Given the description of an element on the screen output the (x, y) to click on. 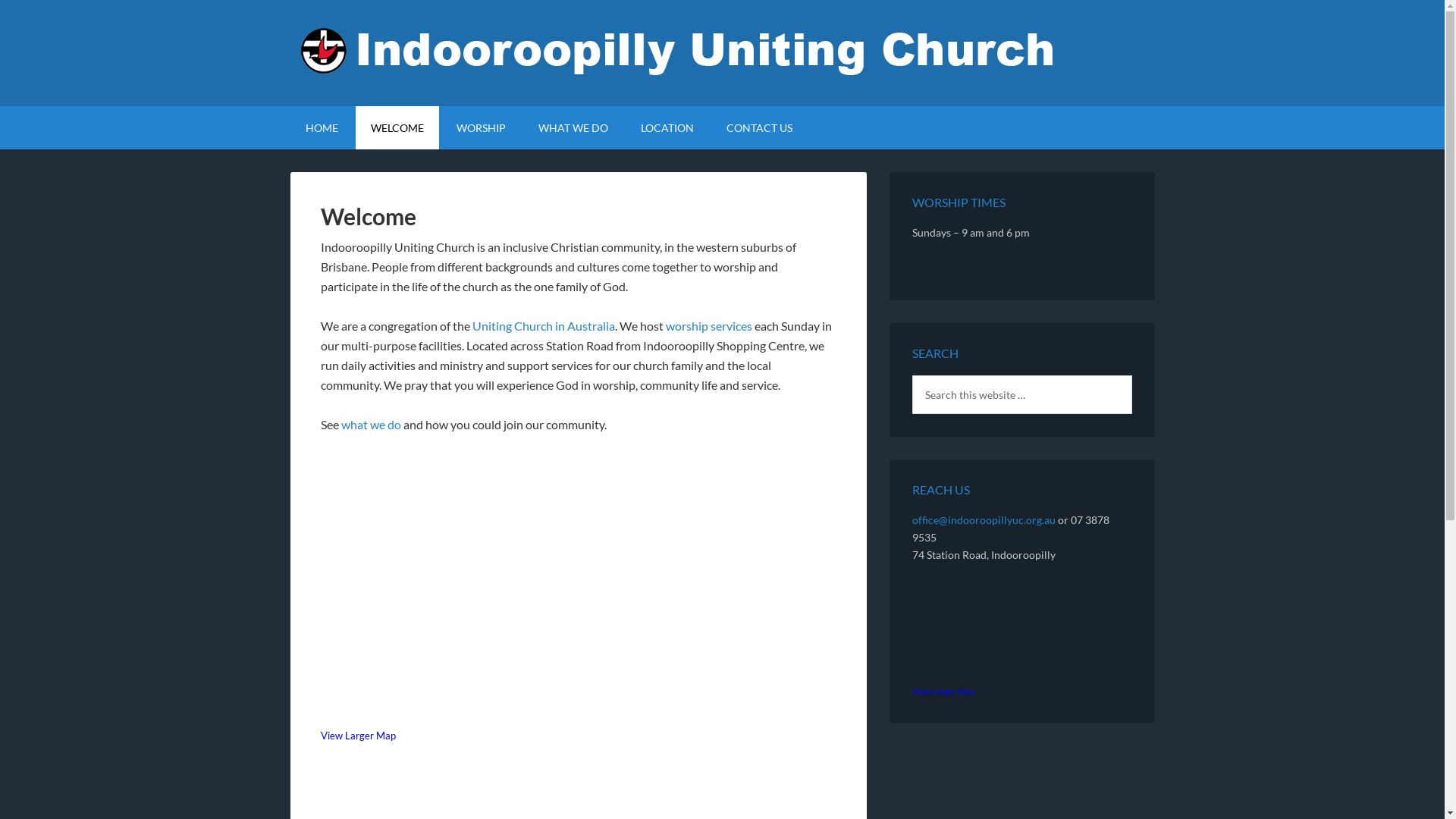
office@indooroopillyuc.org.au Element type: text (982, 519)
WHAT WE DO Element type: text (573, 127)
what we do Element type: text (371, 424)
View Larger Map Element type: text (942, 691)
WELCOME Element type: text (396, 127)
WORSHIP Element type: text (480, 127)
HOME Element type: text (320, 127)
CONTACT US Element type: text (759, 127)
Search Element type: text (1131, 374)
INDOOROOPILLY UNITING CHURCH Element type: text (721, 53)
LOCATION Element type: text (666, 127)
worship services Element type: text (708, 325)
Uniting Church in Australia Element type: text (542, 325)
View Larger Map Element type: text (357, 735)
